Given the description of an element on the screen output the (x, y) to click on. 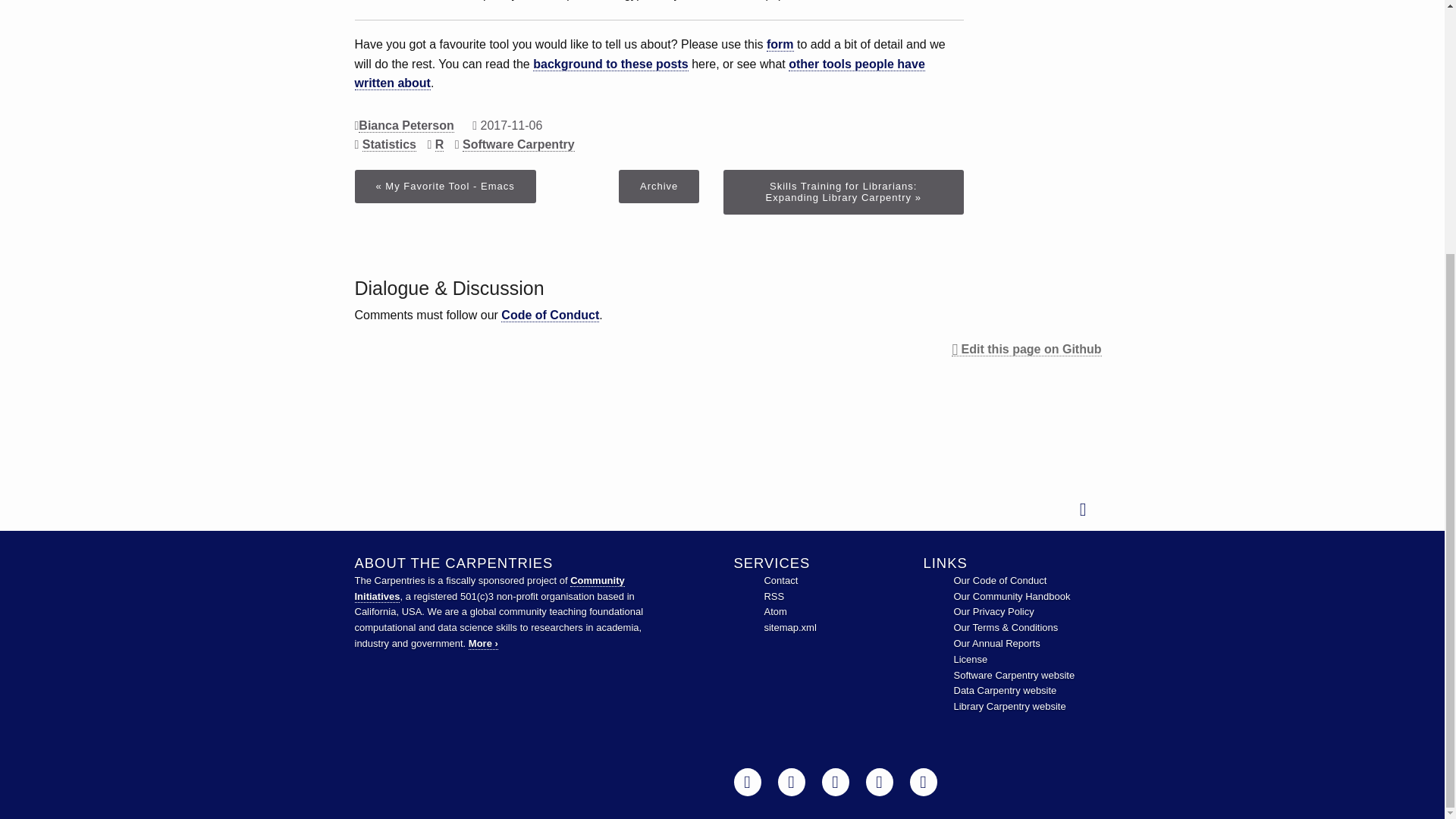
LESSON DEVELOPMENT TRAINING (207, 9)
Subscribe to Atom Feed (774, 611)
Blog Archive (658, 186)
Privacy Policy (993, 611)
Software Carpentry (1014, 674)
Code of Conduct (999, 580)
Library Carpentry (1009, 706)
Terms and Conditions (1005, 627)
Subscribe to RSS Feed (773, 595)
Our Reports (997, 643)
License (970, 659)
Sitemap for Google Webmaster Tools (788, 627)
Data Carpentry (1005, 690)
Contact (779, 580)
Community Handbook (1011, 595)
